Given the description of an element on the screen output the (x, y) to click on. 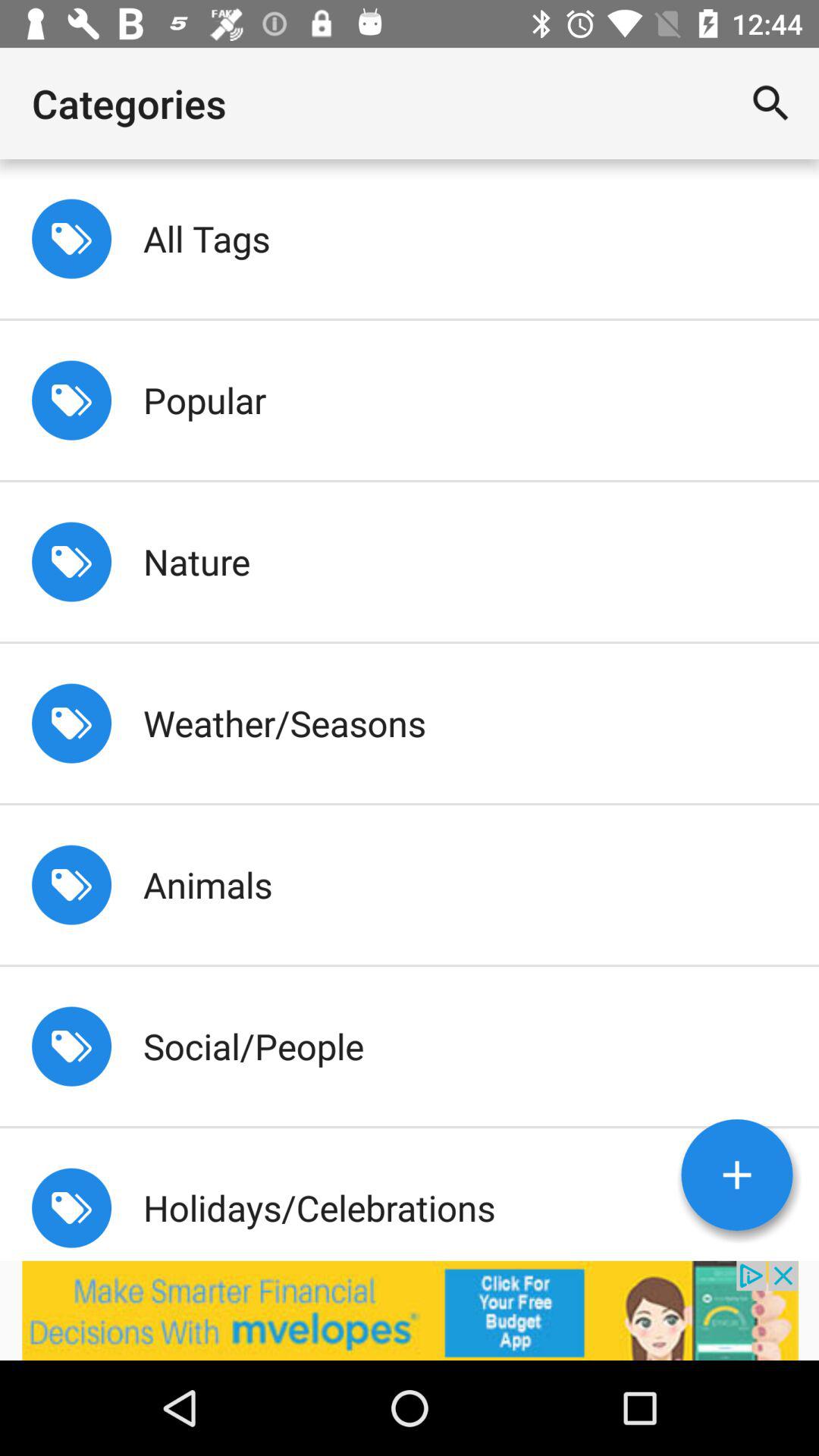
open this advertisement (409, 1310)
